Given the description of an element on the screen output the (x, y) to click on. 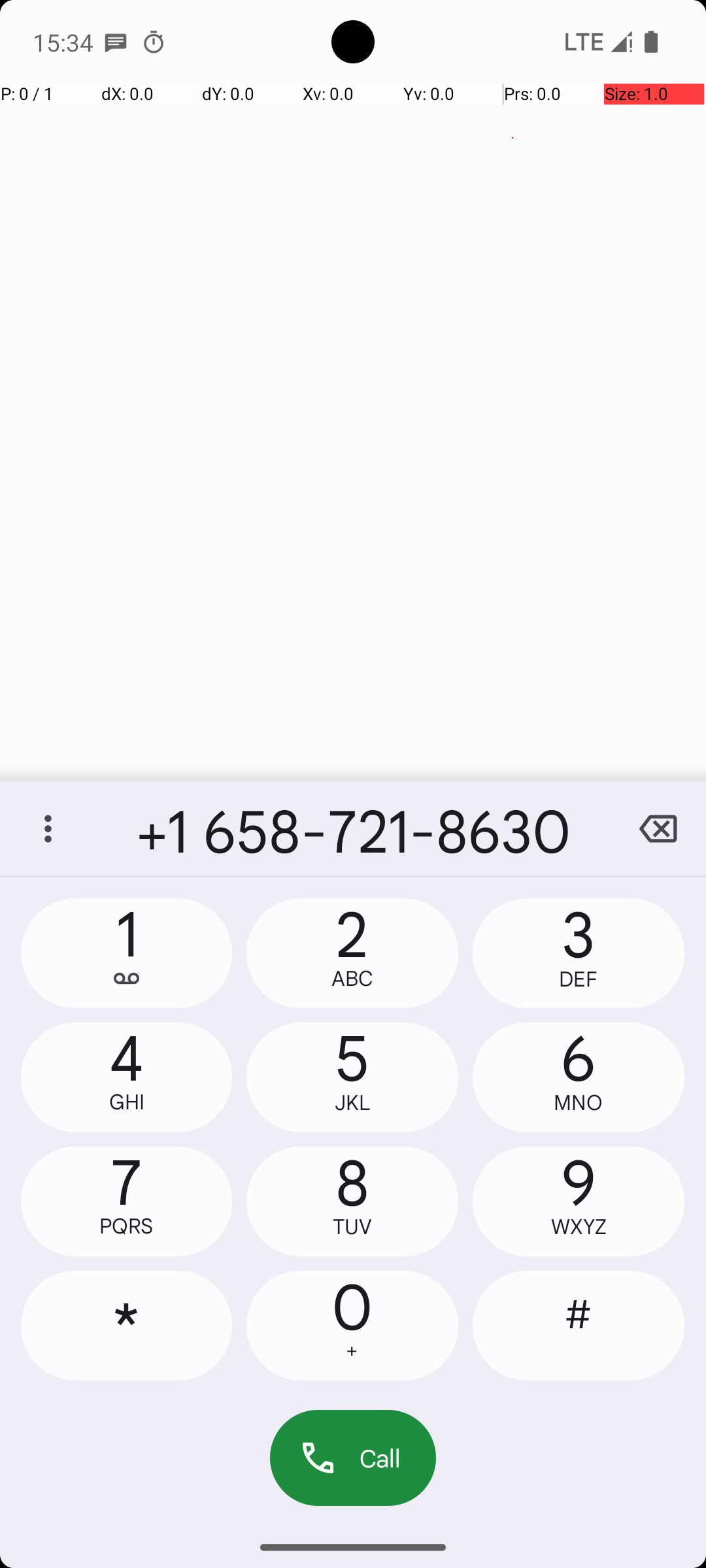
+1 658-721-8630 Element type: android.widget.EditText (352, 828)
